Given the description of an element on the screen output the (x, y) to click on. 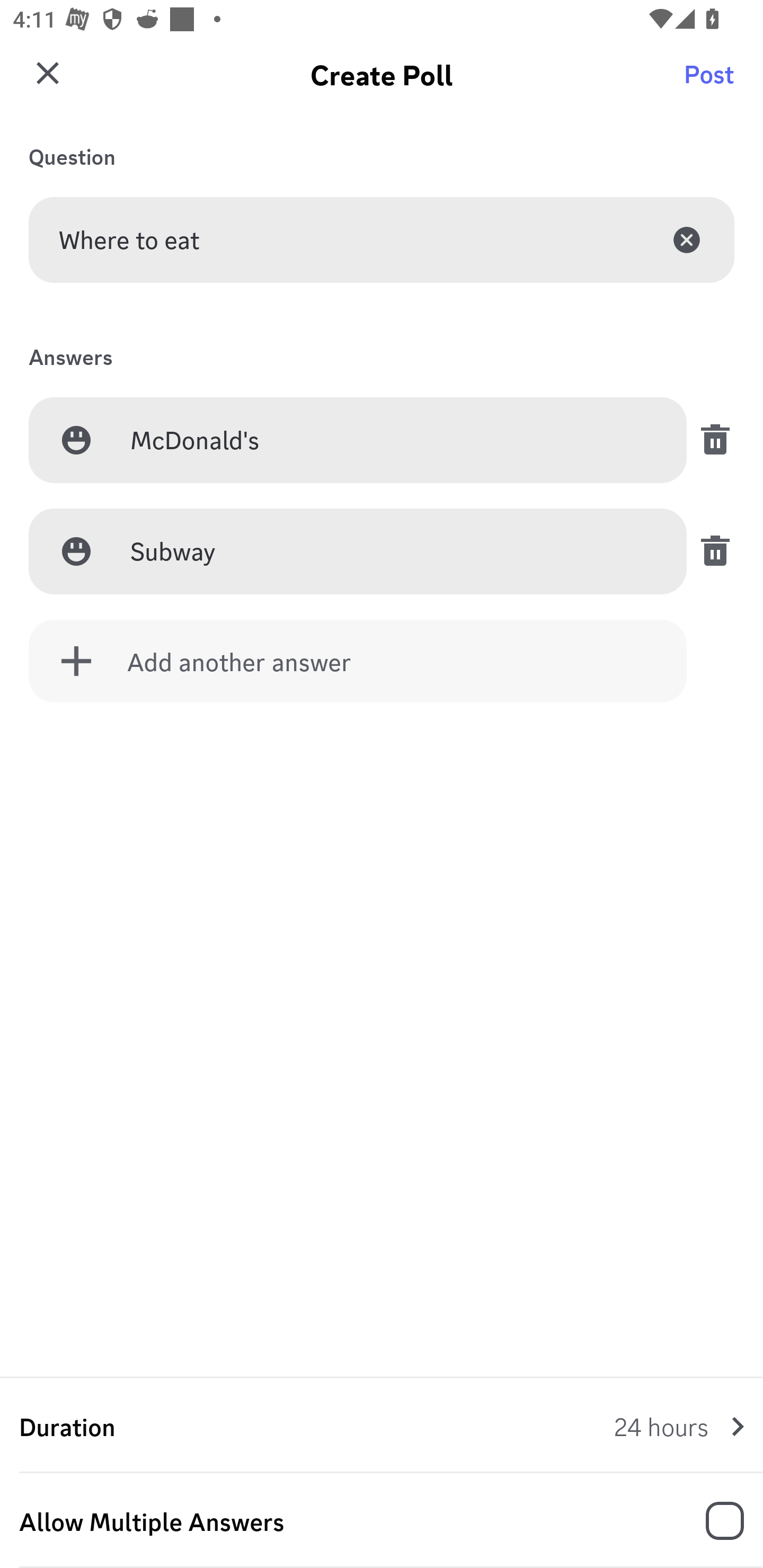
general (channel) general general (channel) (387, 82)
Back (44, 82)
Search (711, 82)
Where to eat Question (381, 239)
Clear (686, 239)
Add media, answer 1 (75, 439)
Remove answer 1 (710, 439)
McDonald's Answer 1 (393, 440)
Add media, answer 2 (75, 550)
Remove answer 2 (710, 550)
Subway Answer 2 (393, 551)
Add another answer (357, 660)
Duration 24 hours Duration 24 hours (381, 1425)
Allow Multiple Answers,  Allow Multiple Answers (381, 1520)
Record Voice Message (711, 1522)
